Given the description of an element on the screen output the (x, y) to click on. 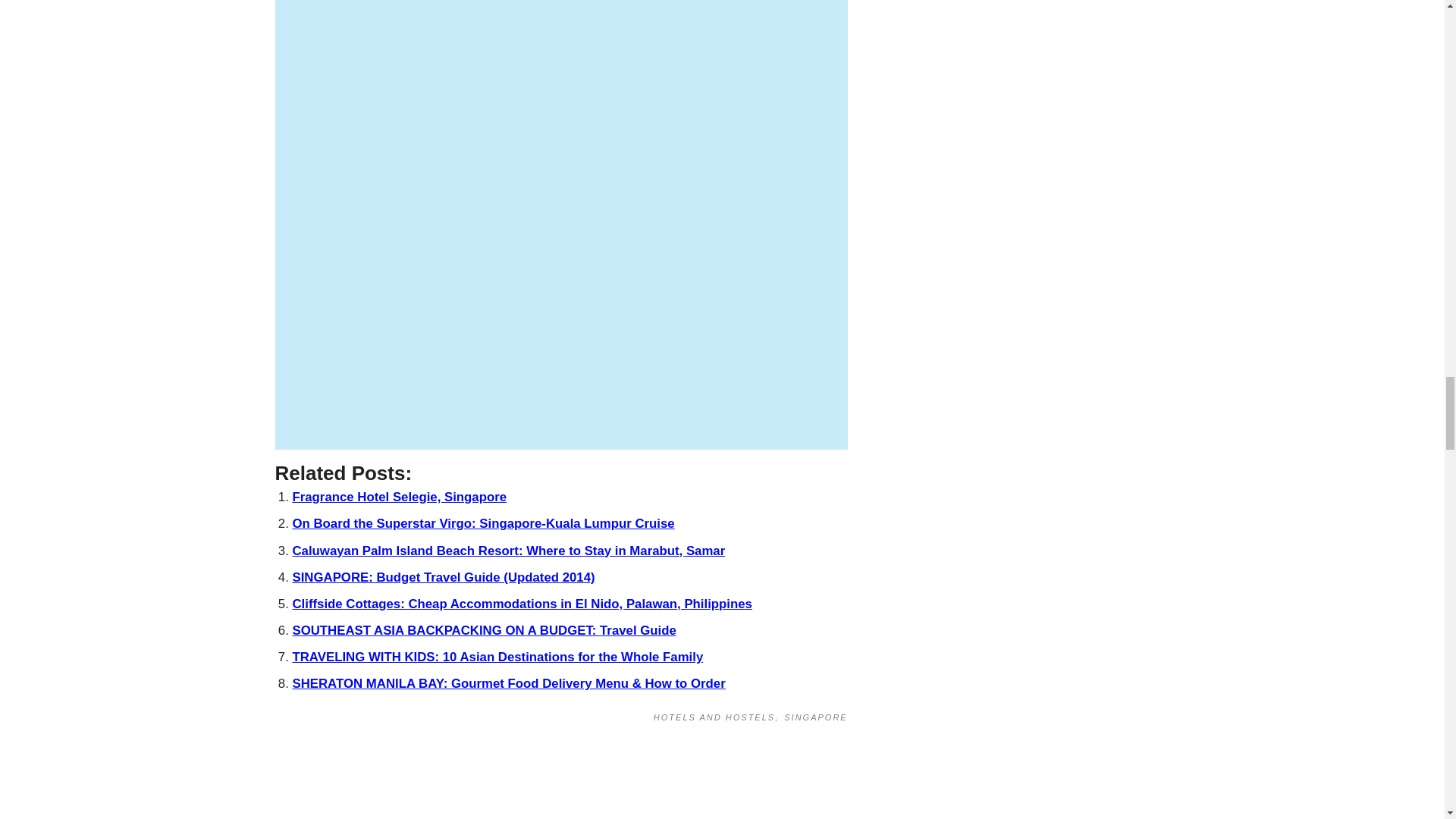
Fragrance Hotel Selegie, Singapore (399, 496)
On Board the Superstar Virgo: Singapore-Kuala Lumpur Cruise (483, 523)
